Given the description of an element on the screen output the (x, y) to click on. 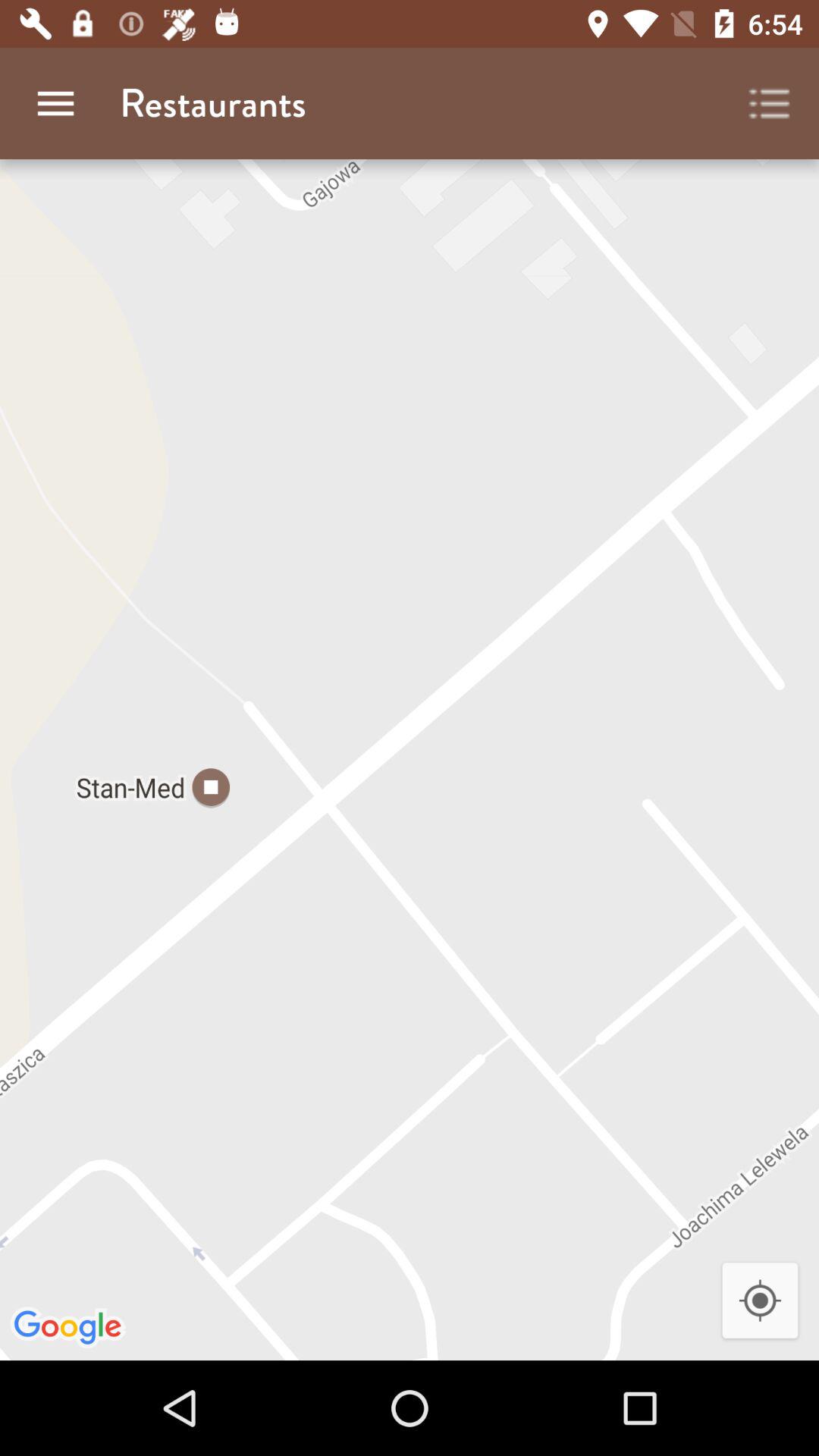
turn on the app to the right of the restaurants item (770, 103)
